Given the description of an element on the screen output the (x, y) to click on. 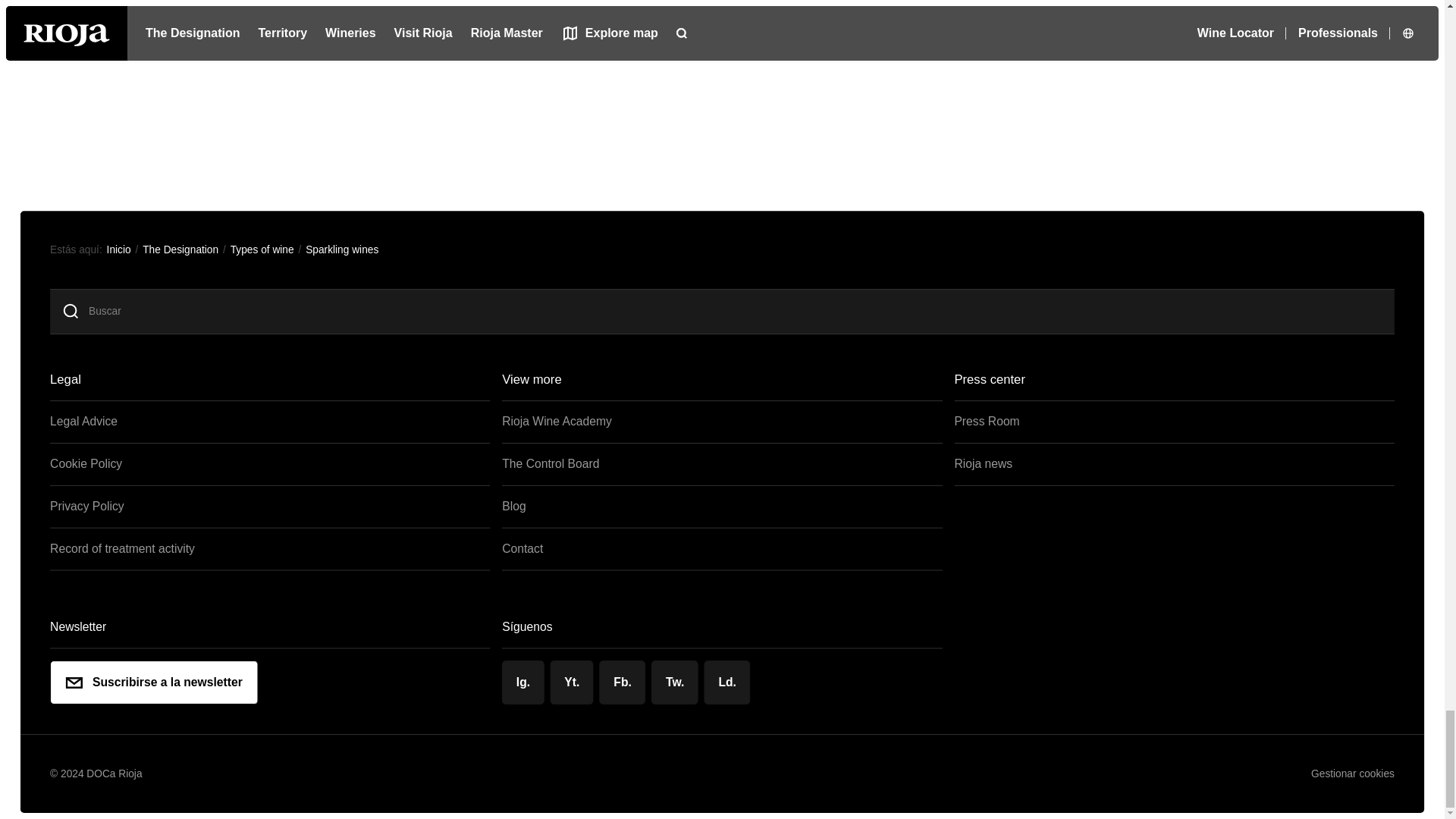
Buscar (739, 311)
